Given the description of an element on the screen output the (x, y) to click on. 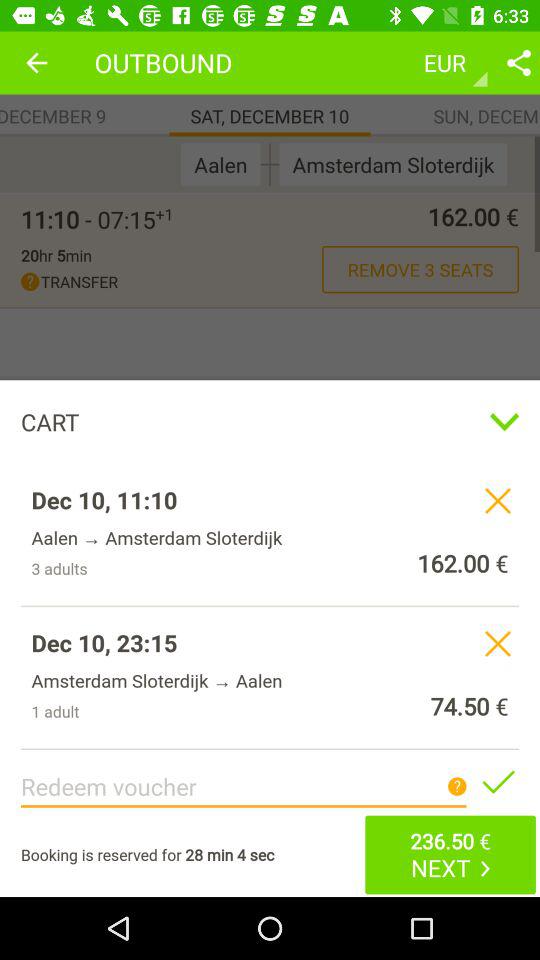
share the article (519, 62)
